Given the description of an element on the screen output the (x, y) to click on. 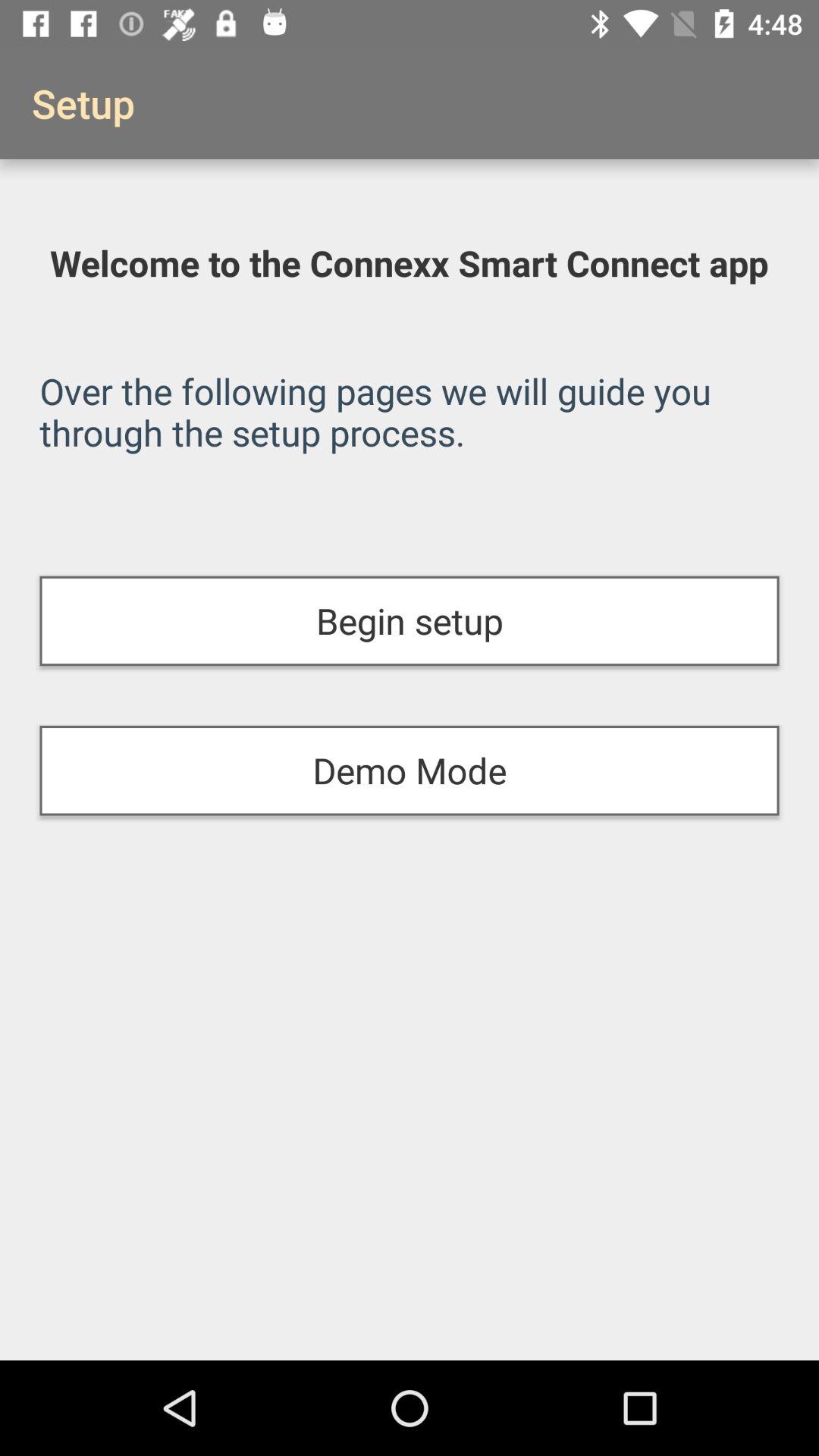
select the item above demo mode item (409, 621)
